Given the description of an element on the screen output the (x, y) to click on. 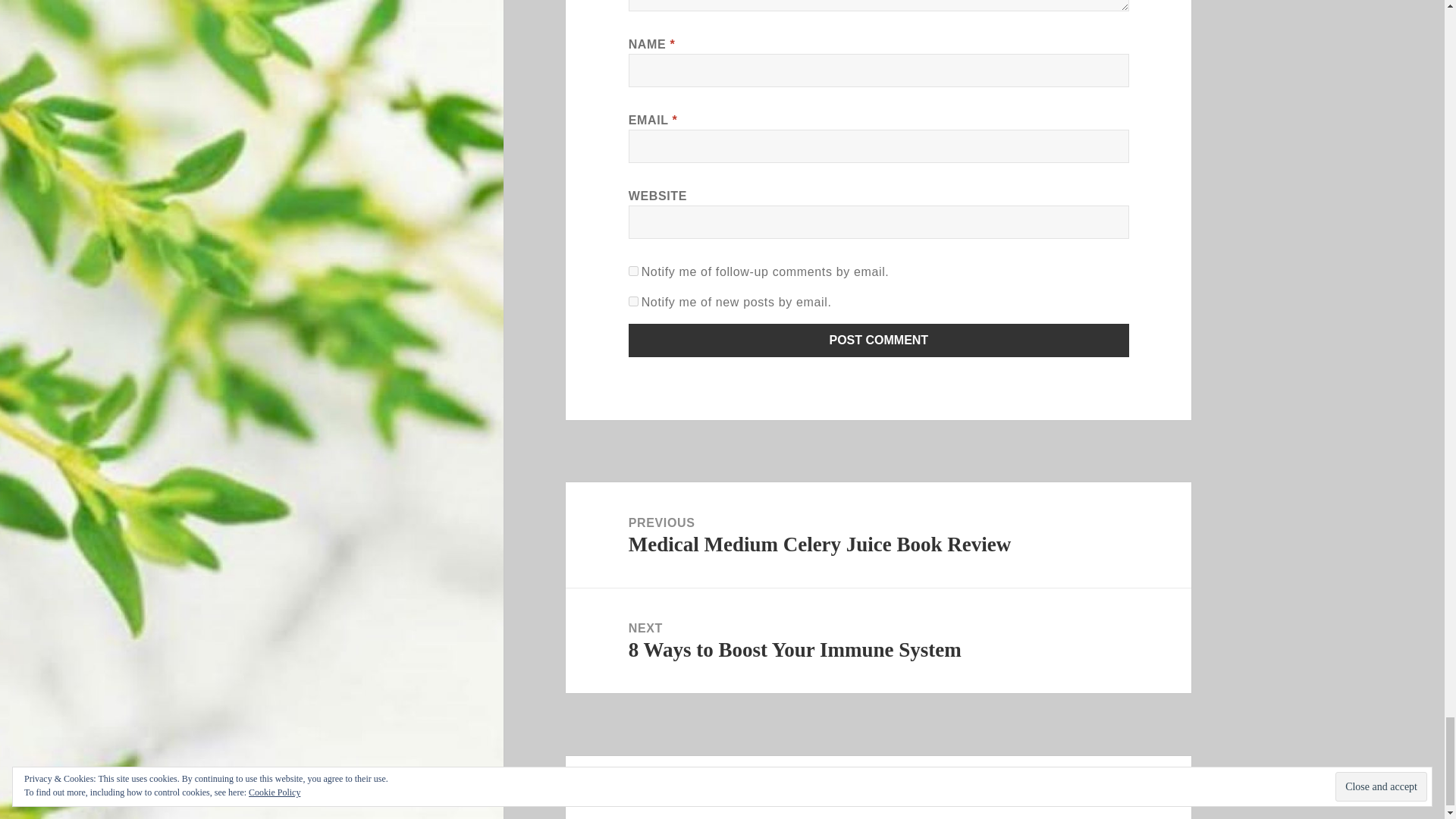
subscribe (633, 301)
Post Comment (878, 340)
subscribe (633, 271)
